Given the description of an element on the screen output the (x, y) to click on. 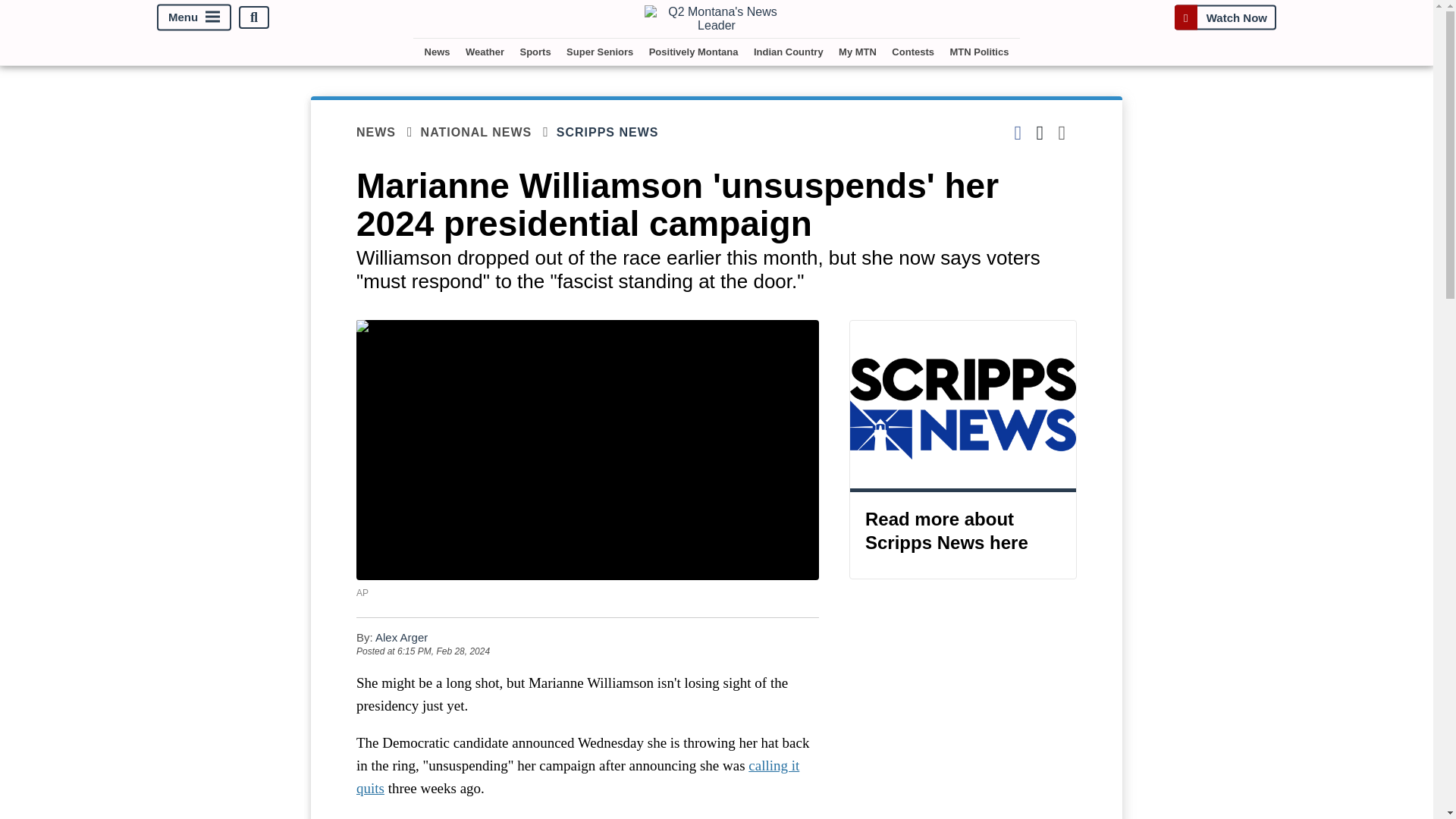
Watch Now (1224, 16)
Menu (194, 17)
